Given the description of an element on the screen output the (x, y) to click on. 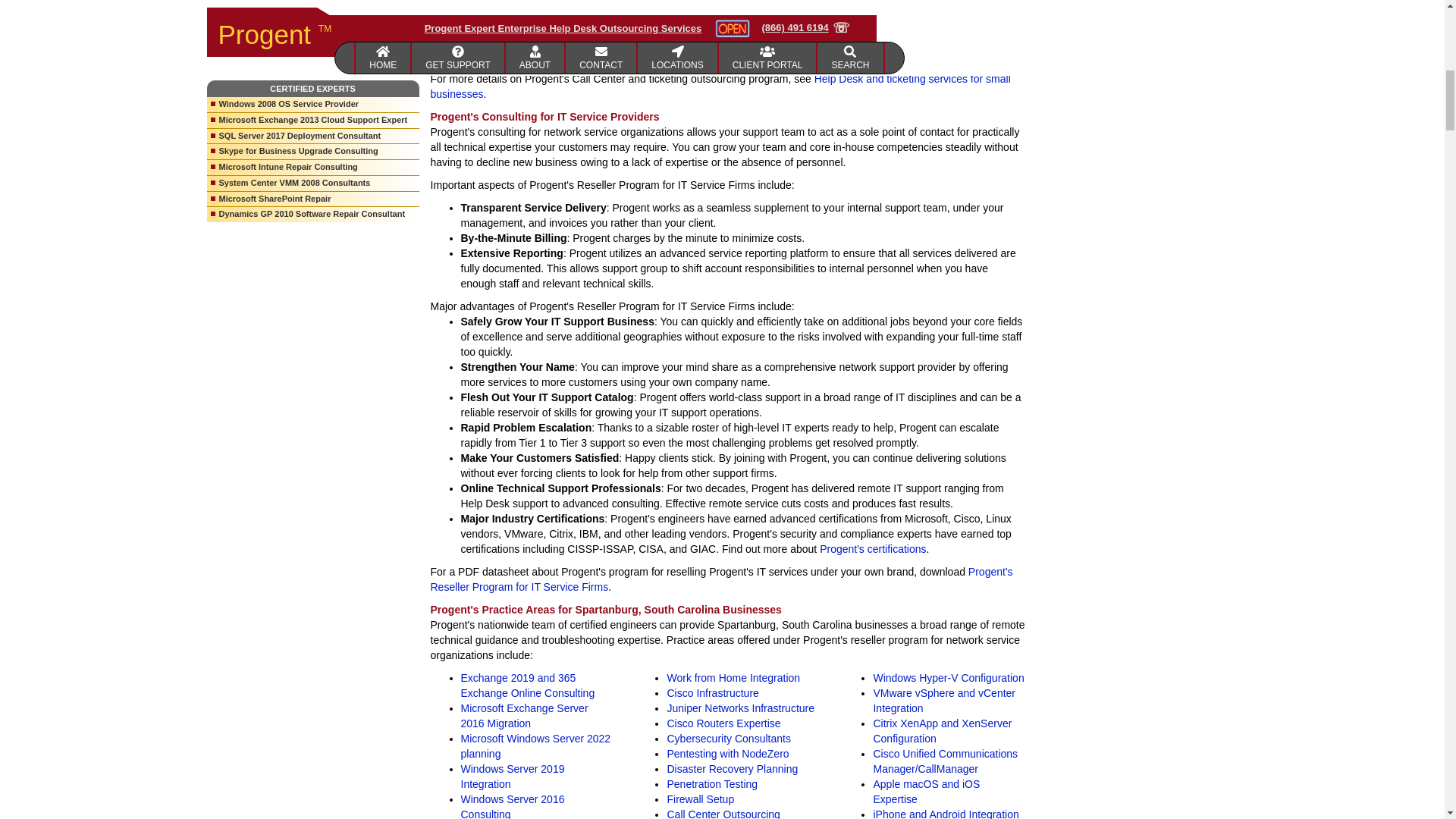
Microsoft Exchange Server 2019 Consulting (528, 685)
Industry Certifications Earned by Progent's Consultants (872, 548)
Progent's Reseller Program for Network Service Providers (721, 578)
Outsourced Help Desk and Ticketing Services (720, 85)
